Given the description of an element on the screen output the (x, y) to click on. 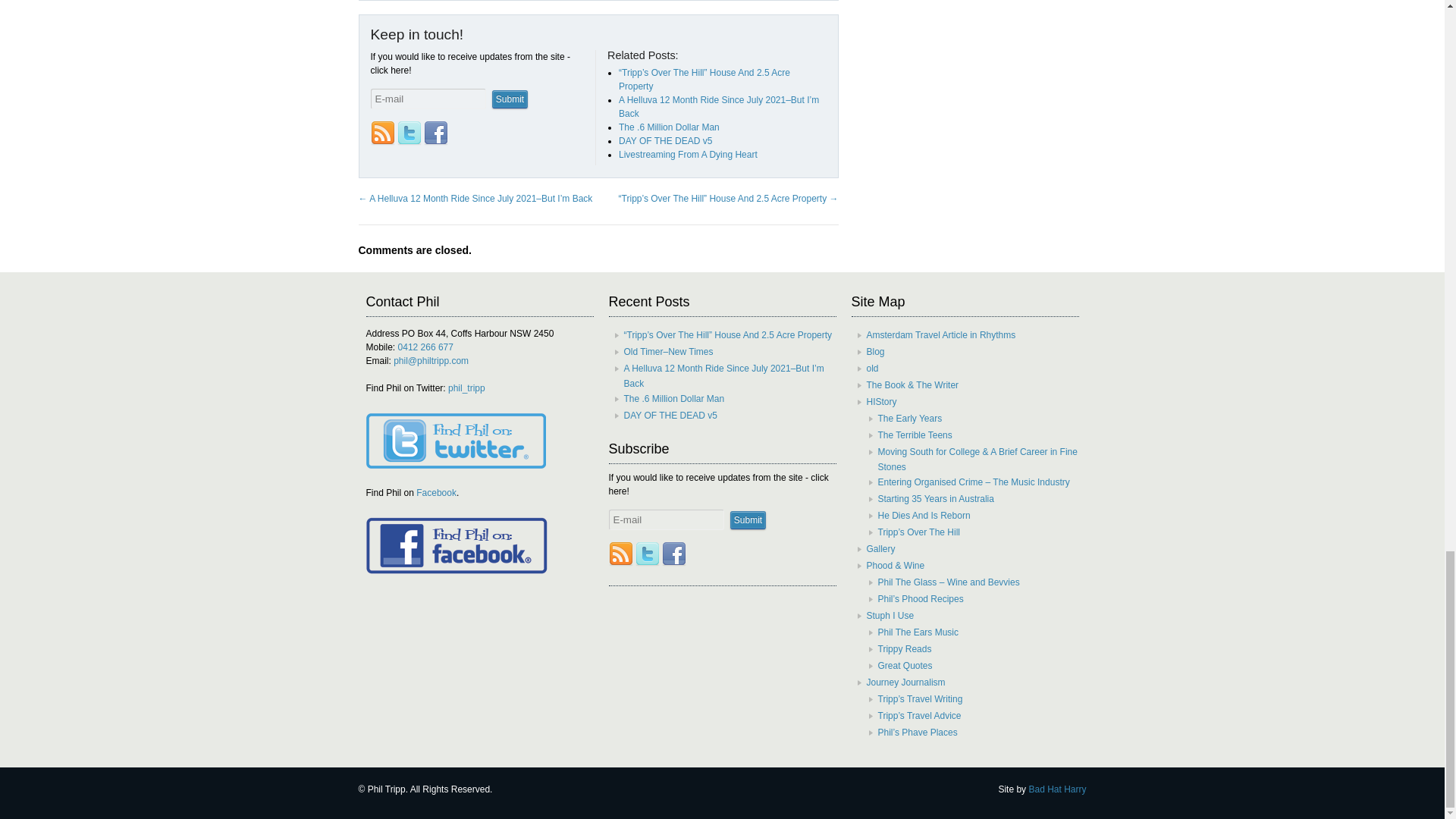
Click here to visit Bad Hat Harry (1056, 788)
Follow us on Twitter (409, 133)
E-mail (665, 519)
Subscribe to our RSS feed (619, 554)
Submit (509, 99)
DAY OF THE DEAD v5 (664, 140)
Livestreaming From A Dying Heart (687, 154)
DAY OF THE DEAD v5 (664, 140)
Submit (747, 520)
Connect on Facebook (673, 554)
